Given the description of an element on the screen output the (x, y) to click on. 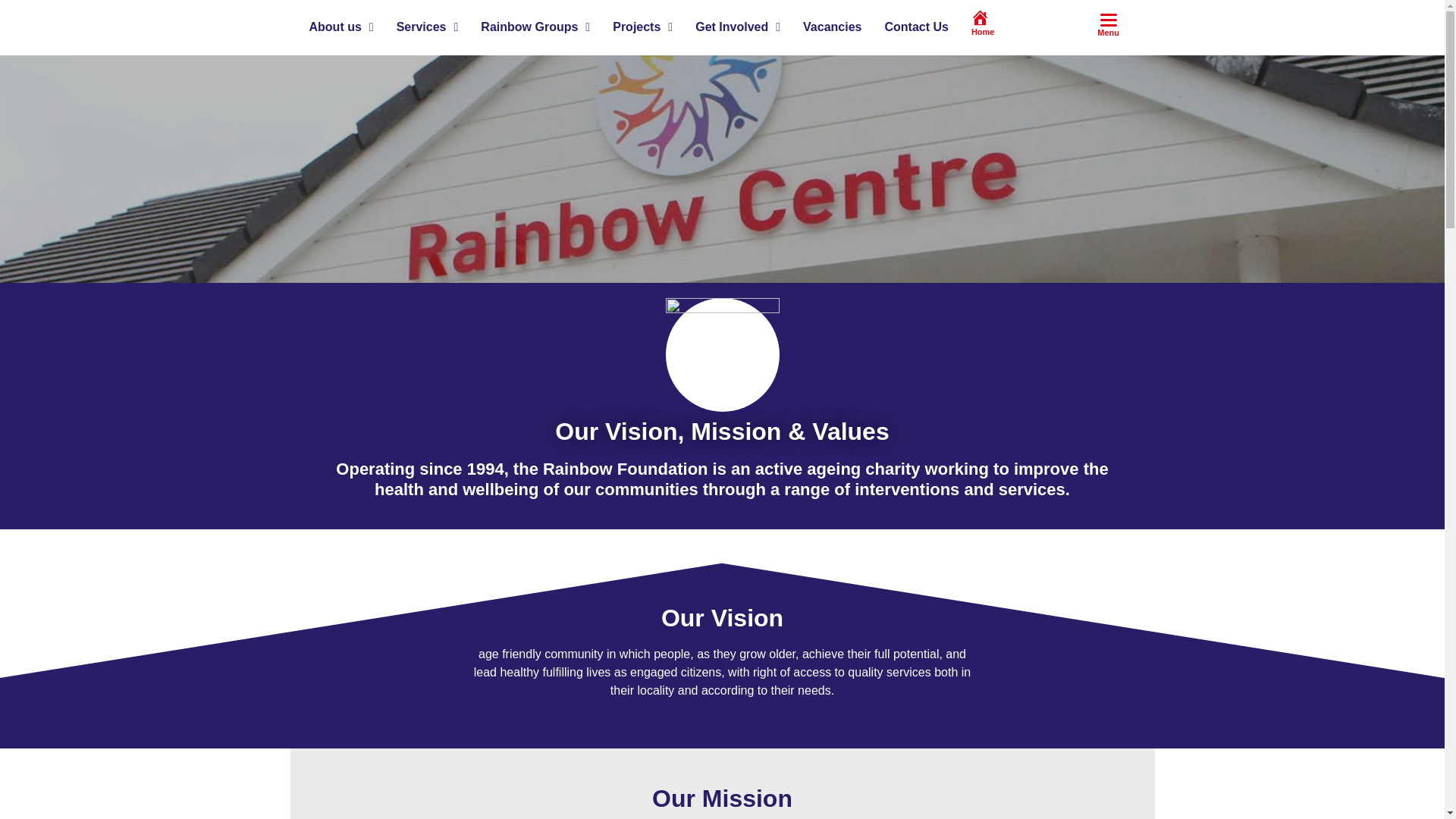
About us (340, 26)
Services (427, 26)
